Given the description of an element on the screen output the (x, y) to click on. 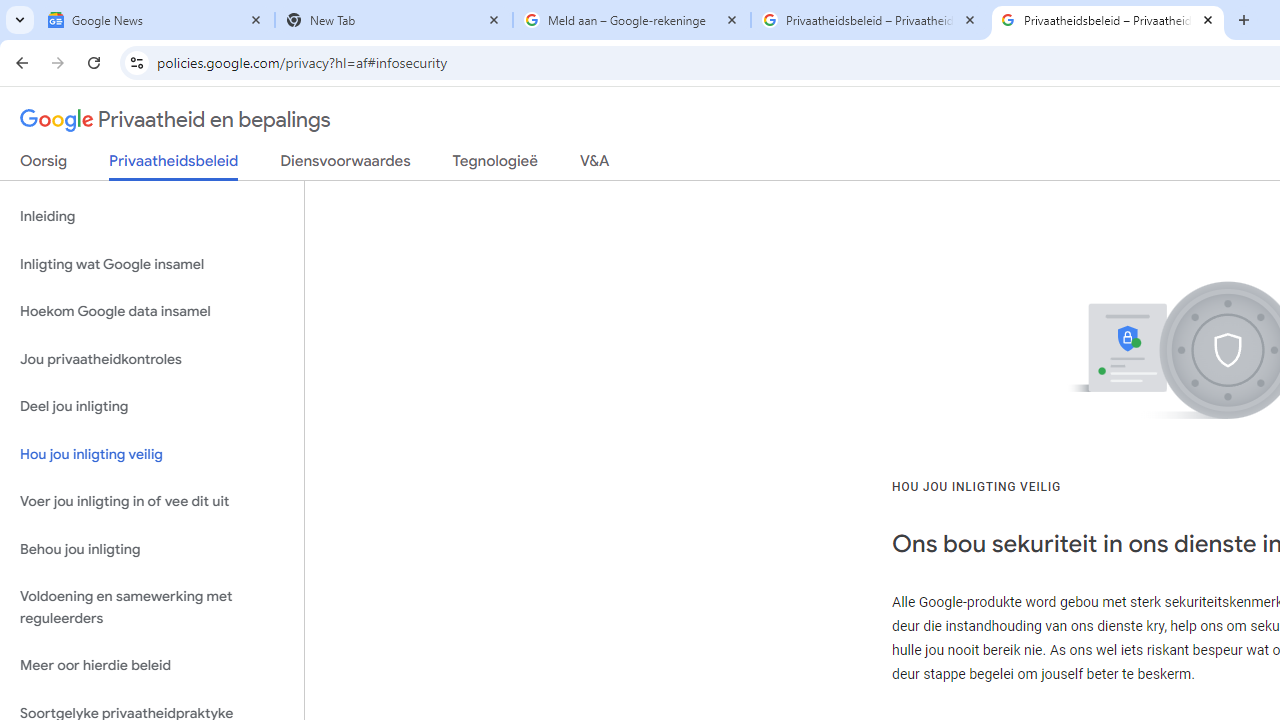
Google News (156, 20)
Privaatheidsbeleid (173, 166)
Diensvoorwaardes (345, 165)
Jou privaatheidkontroles (152, 358)
Behou jou inligting (152, 548)
Inleiding (152, 216)
Voer jou inligting in of vee dit uit (152, 502)
V&A (594, 165)
Privaatheid en bepalings (175, 120)
